Given the description of an element on the screen output the (x, y) to click on. 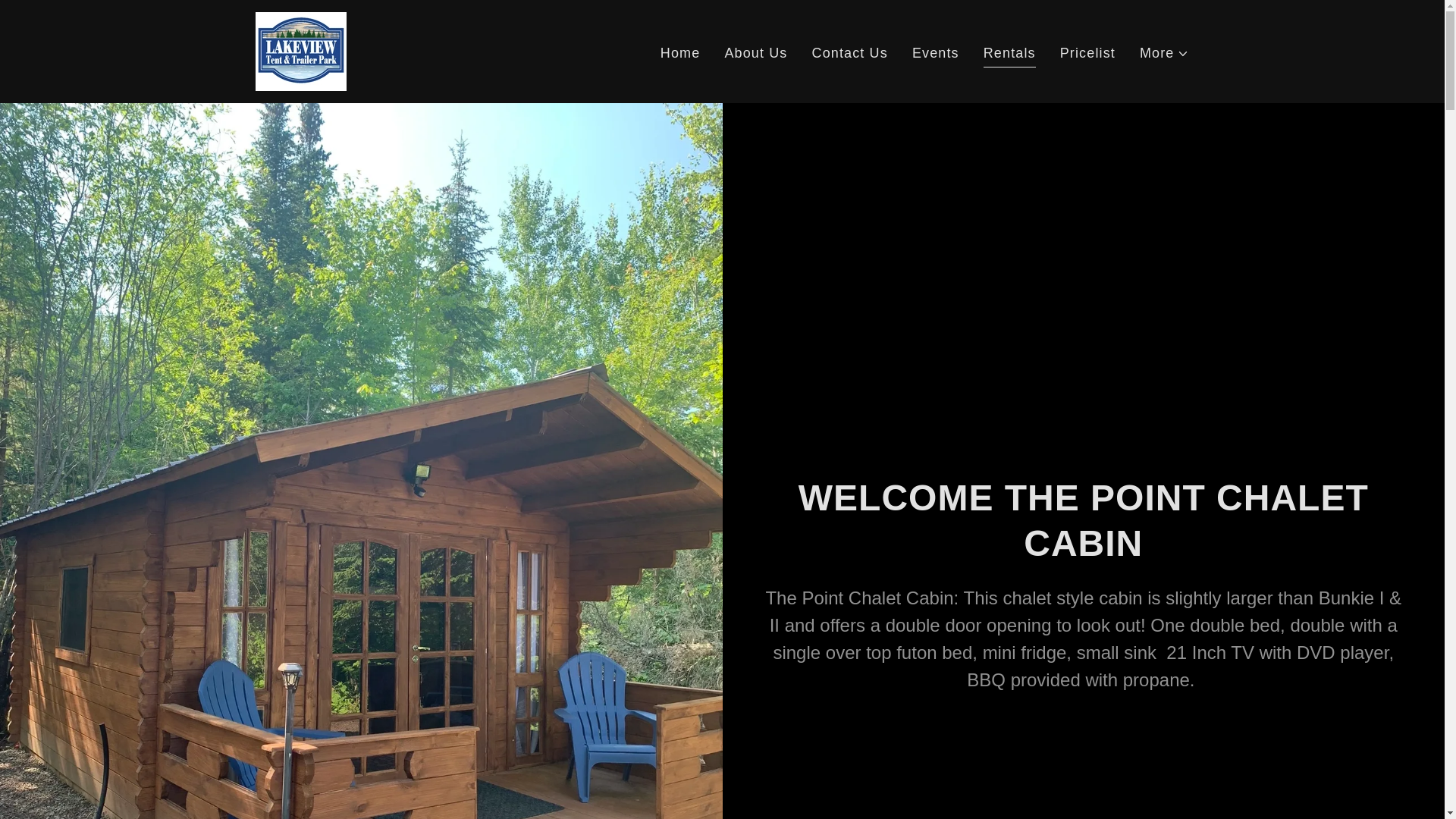
Contact Us (850, 52)
Home (680, 52)
Events (935, 52)
Rentals (1009, 55)
More (1164, 53)
About Us (755, 52)
Pricelist (1087, 52)
